Given the description of an element on the screen output the (x, y) to click on. 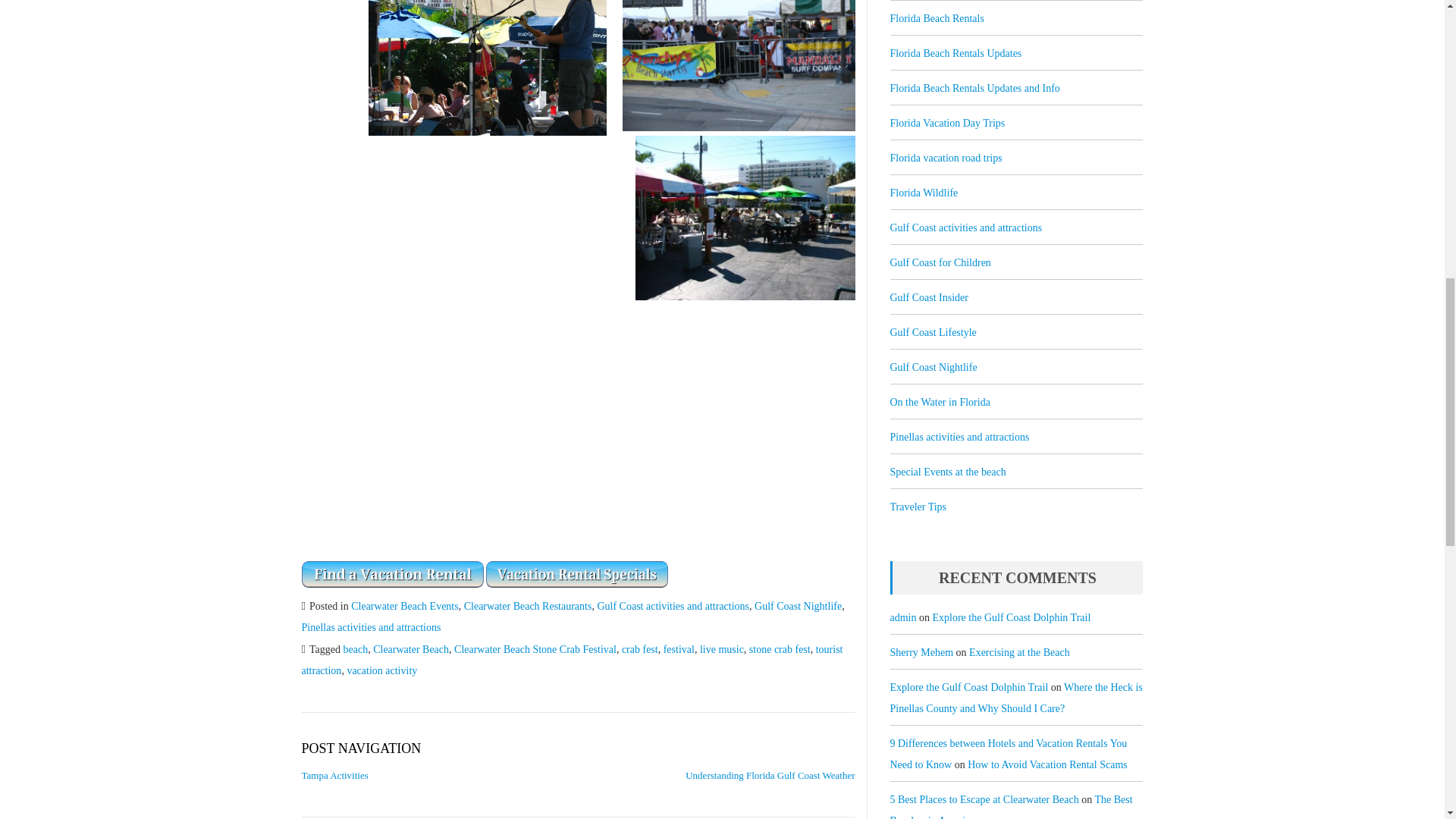
Understanding Florida Gulf Coast Weather (769, 775)
Gulf Coast Nightlife (797, 605)
festival (678, 649)
tourist attraction (572, 659)
Pinellas activities and attractions (371, 627)
Clearwater Beach Restaurants (528, 605)
Tampa Activities (334, 775)
vacation activity (381, 670)
stone crab fest (779, 649)
Clearwater Beach (410, 649)
Clearwater Beach Events (404, 605)
Clearwater Beach Stone Crab Festival (534, 649)
live music (722, 649)
Gulf Coast activities and attractions (672, 605)
beach (355, 649)
